Given the description of an element on the screen output the (x, y) to click on. 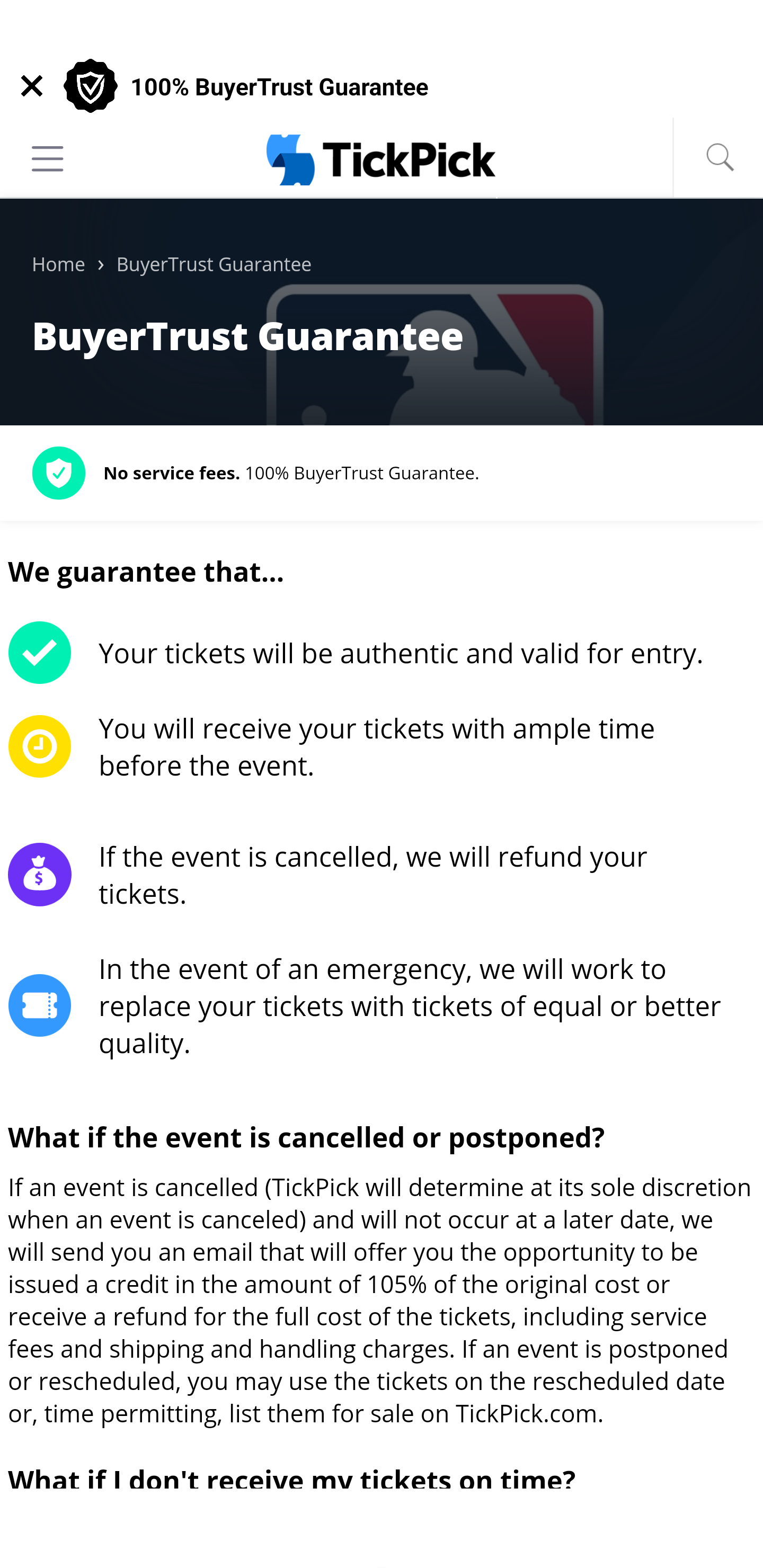
TickPick (381, 159)
Search Icon (720, 156)
Expand Mobile Menu (47, 157)
Home (58, 264)
